Given the description of an element on the screen output the (x, y) to click on. 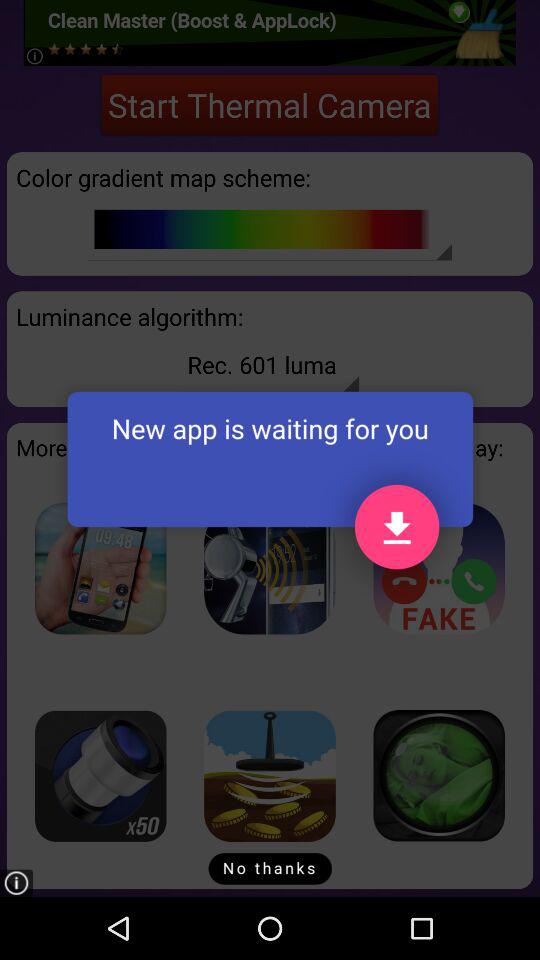
open cellphone image (100, 568)
